Given the description of an element on the screen output the (x, y) to click on. 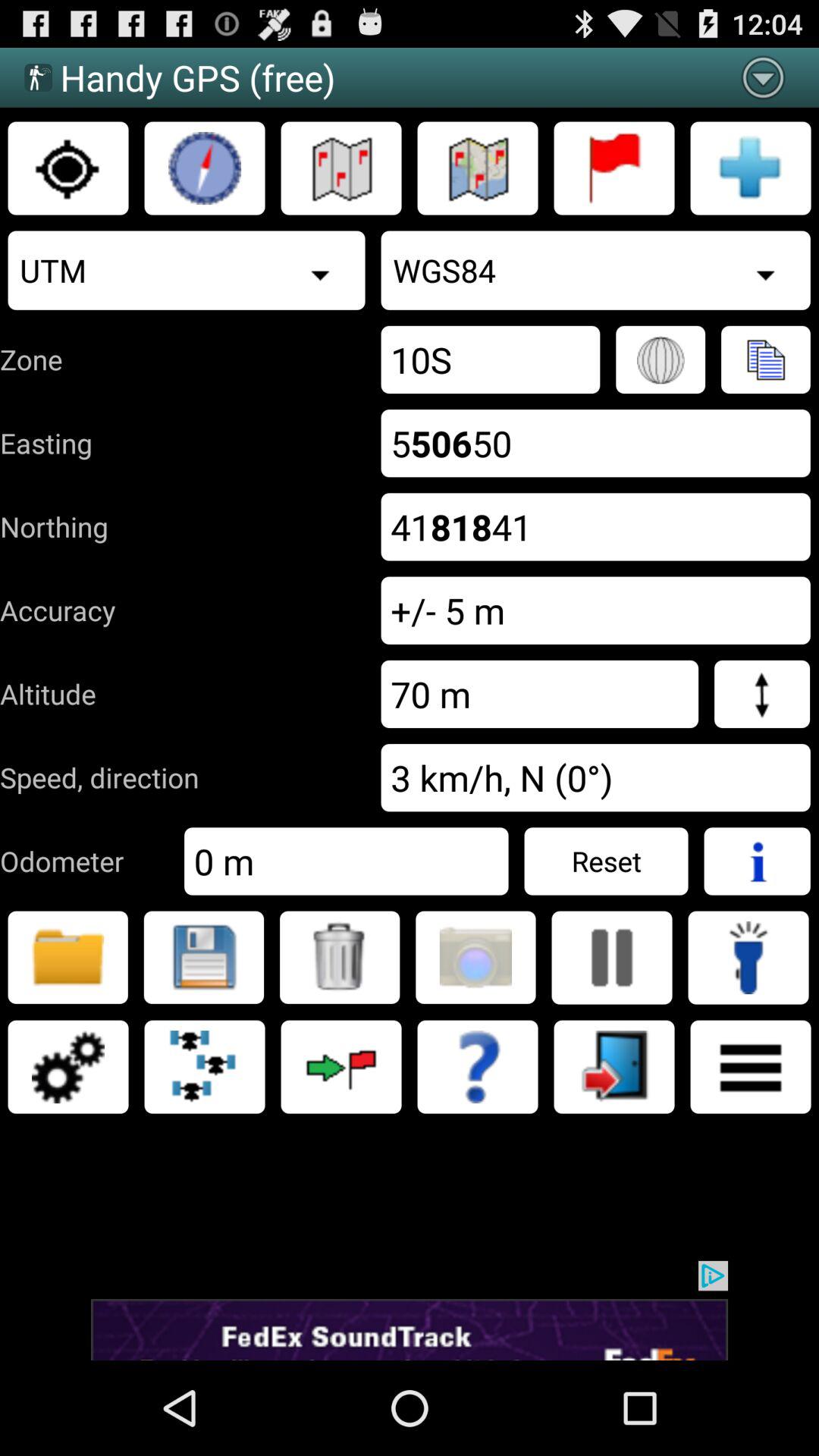
press pause (611, 957)
